Given the description of an element on the screen output the (x, y) to click on. 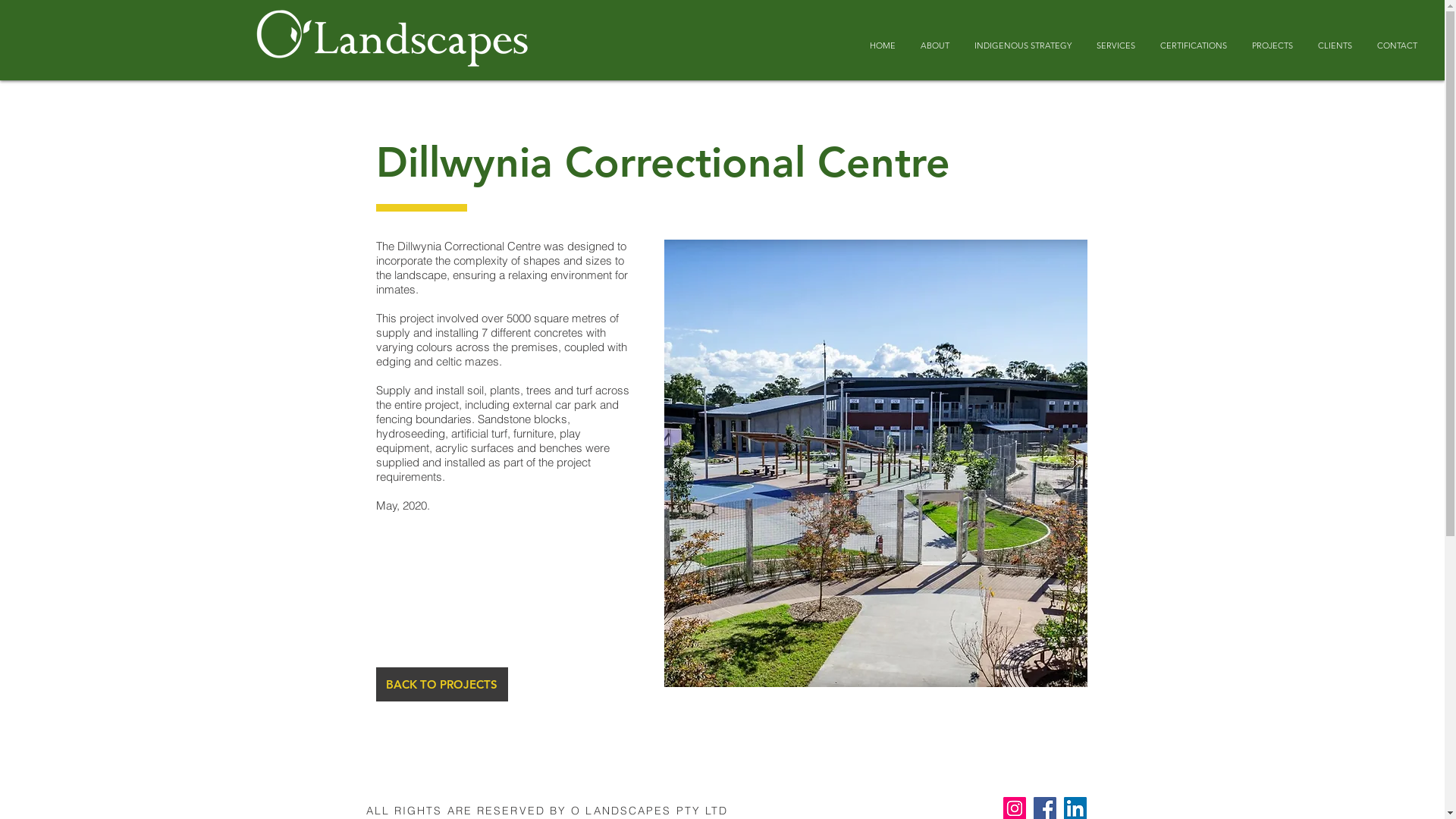
CLIENTS Element type: text (1334, 45)
PROJECTS Element type: text (1272, 45)
CERTIFICATIONS Element type: text (1193, 45)
HOME Element type: text (881, 45)
CONTACT Element type: text (1396, 45)
SERVICES Element type: text (1115, 45)
BACK TO PROJECTS Element type: text (442, 684)
INDIGENOUS STRATEGY Element type: text (1022, 45)
ABOUT Element type: text (934, 45)
